Given the description of an element on the screen output the (x, y) to click on. 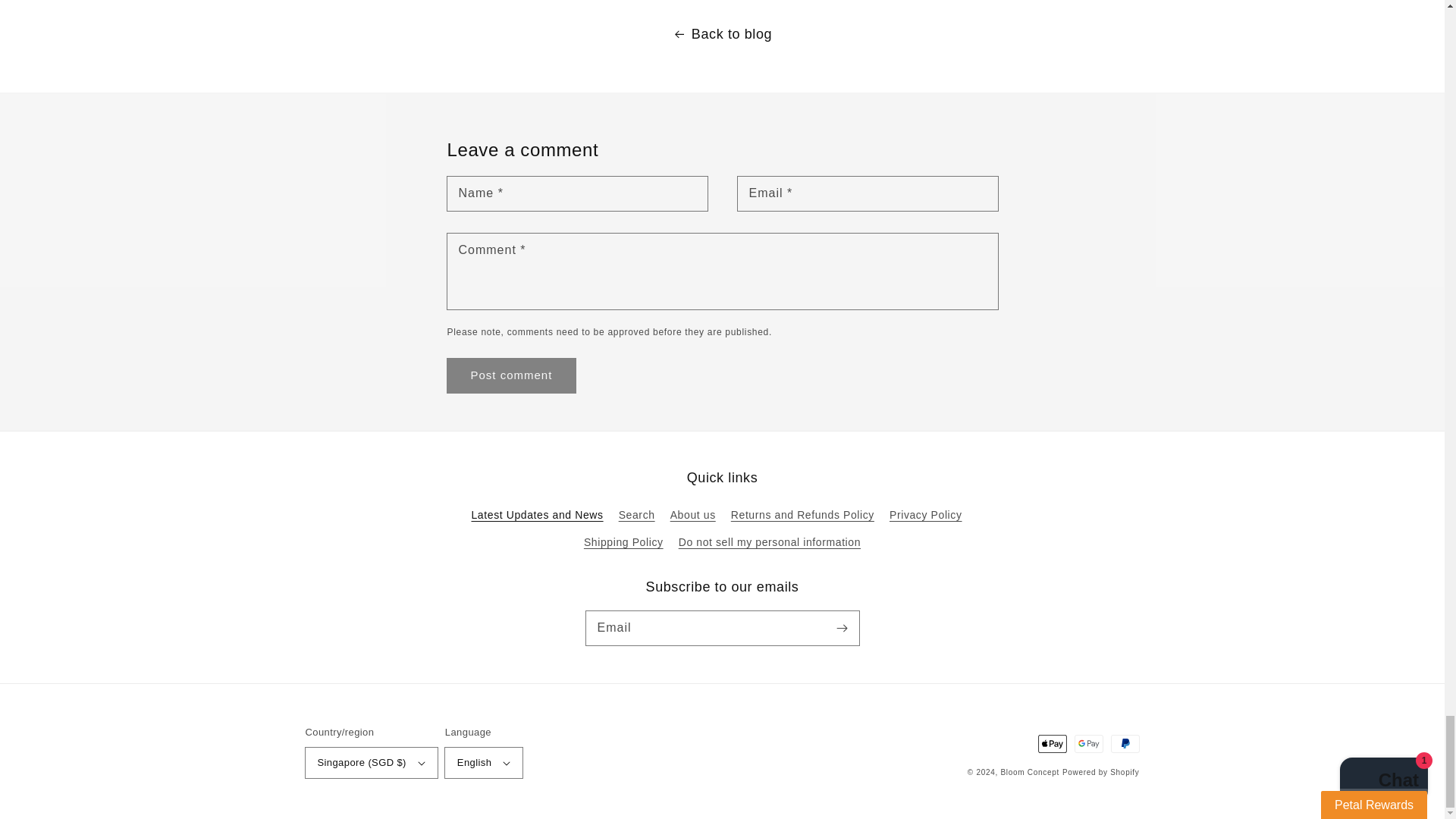
Post comment (511, 375)
